Given the description of an element on the screen output the (x, y) to click on. 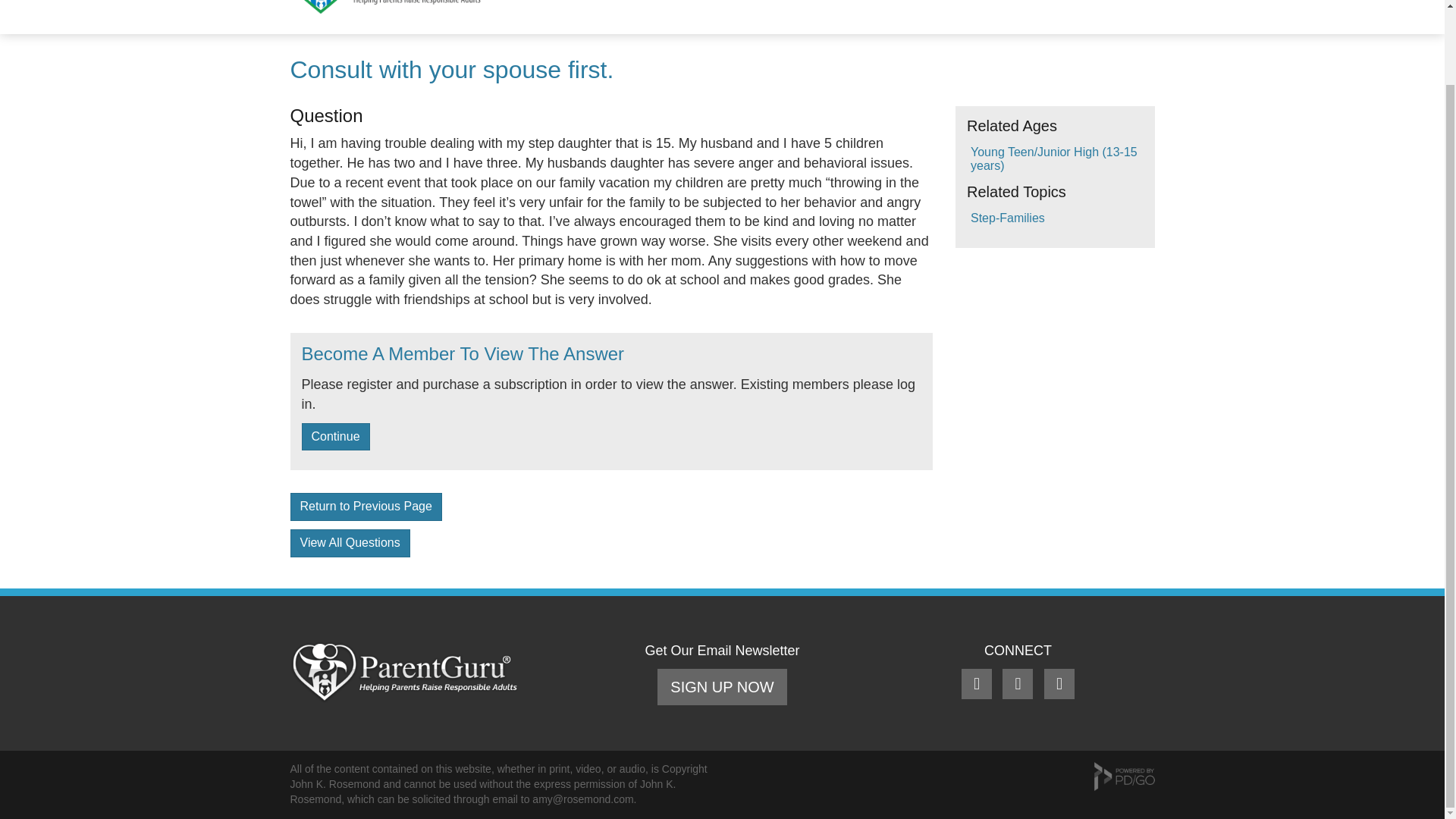
Instagram (1059, 684)
View All Questions (349, 543)
Testimonials (1106, 9)
Browse (628, 9)
Our Experts (949, 9)
Step-Families (1008, 217)
Bookstore (862, 9)
Ask a Question (765, 9)
Facebook (978, 684)
Twitter (1018, 684)
